Given the description of an element on the screen output the (x, y) to click on. 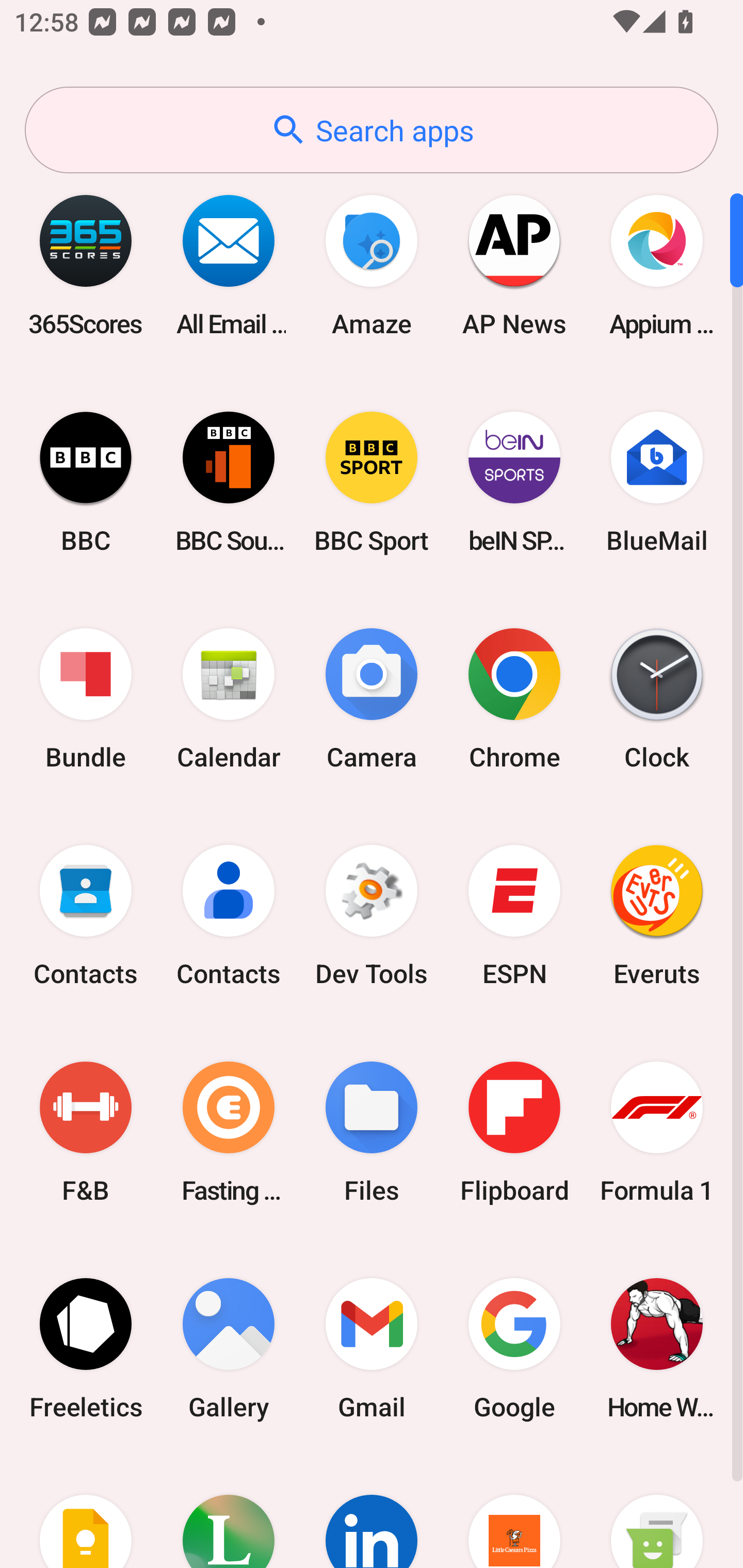
  Search apps (371, 130)
365Scores (85, 264)
All Email Connect (228, 264)
Amaze (371, 264)
AP News (514, 264)
Appium Settings (656, 264)
BBC (85, 482)
BBC Sounds (228, 482)
BBC Sport (371, 482)
beIN SPORTS (514, 482)
BlueMail (656, 482)
Bundle (85, 699)
Calendar (228, 699)
Camera (371, 699)
Chrome (514, 699)
Clock (656, 699)
Contacts (85, 915)
Contacts (228, 915)
Dev Tools (371, 915)
ESPN (514, 915)
Everuts (656, 915)
F&B (85, 1131)
Fasting Coach (228, 1131)
Files (371, 1131)
Flipboard (514, 1131)
Formula 1 (656, 1131)
Freeletics (85, 1348)
Gallery (228, 1348)
Gmail (371, 1348)
Google (514, 1348)
Home Workout (656, 1348)
Keep Notes (85, 1512)
Lifesum (228, 1512)
LinkedIn (371, 1512)
Little Caesars Pizza (514, 1512)
Messaging (656, 1512)
